Given the description of an element on the screen output the (x, y) to click on. 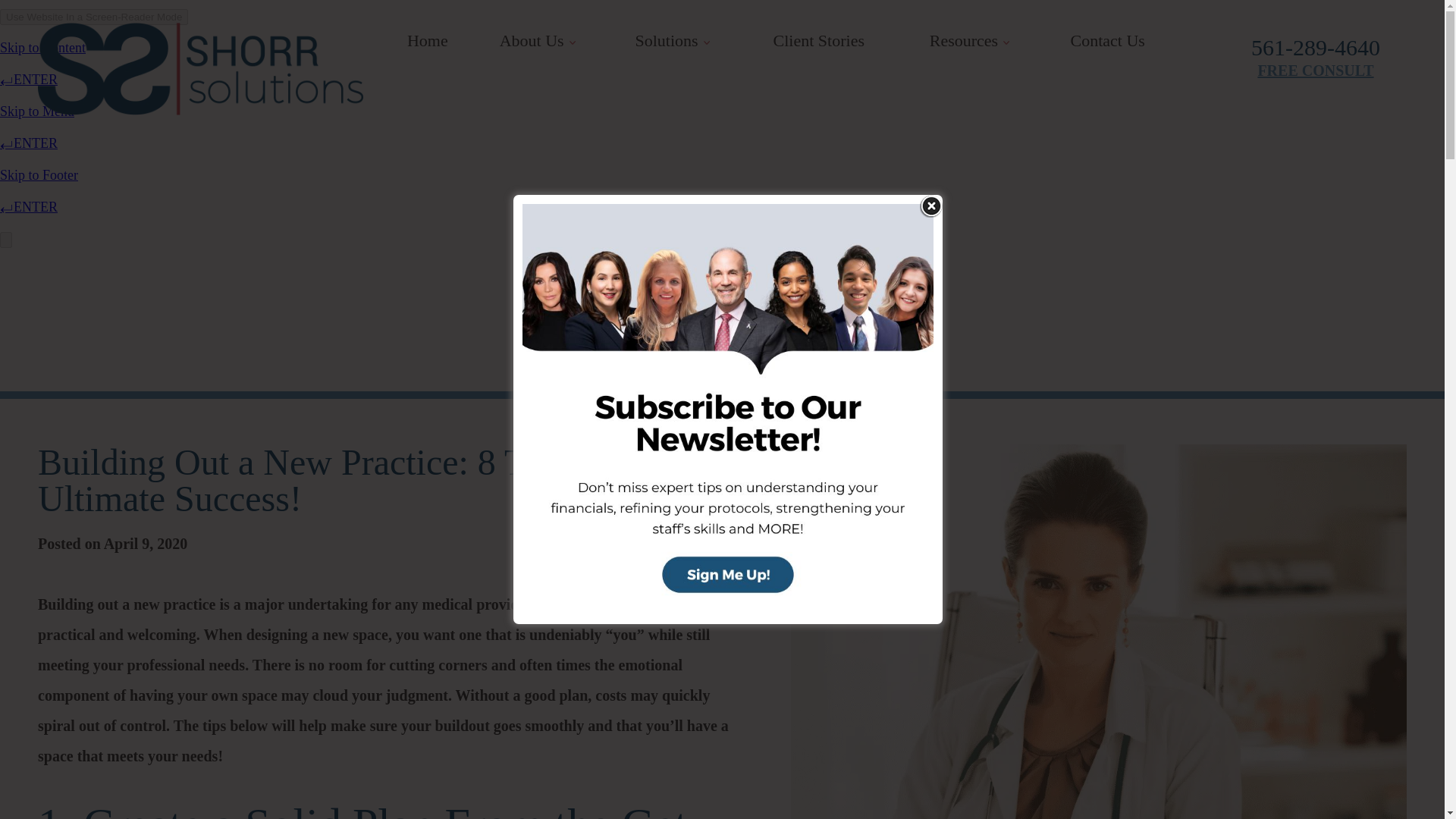
Client Stories (818, 40)
FREE CONSULT (1315, 70)
561-289-4640 (1315, 47)
Contact Us (1107, 40)
Close (931, 205)
About Us (536, 40)
Solutions (672, 40)
Home (426, 40)
Resources (969, 40)
